Given the description of an element on the screen output the (x, y) to click on. 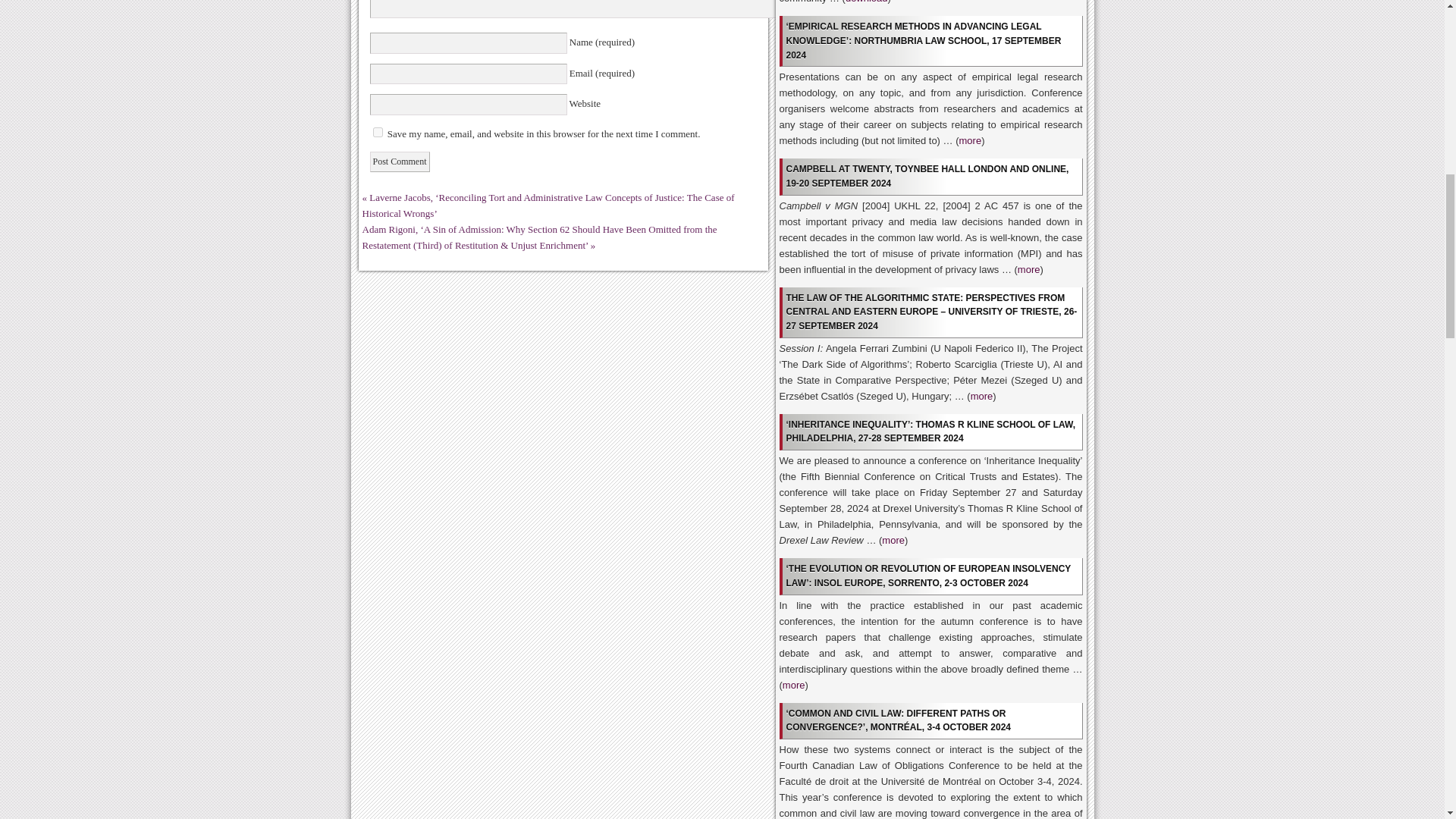
yes (377, 132)
Post Comment (399, 161)
